Given the description of an element on the screen output the (x, y) to click on. 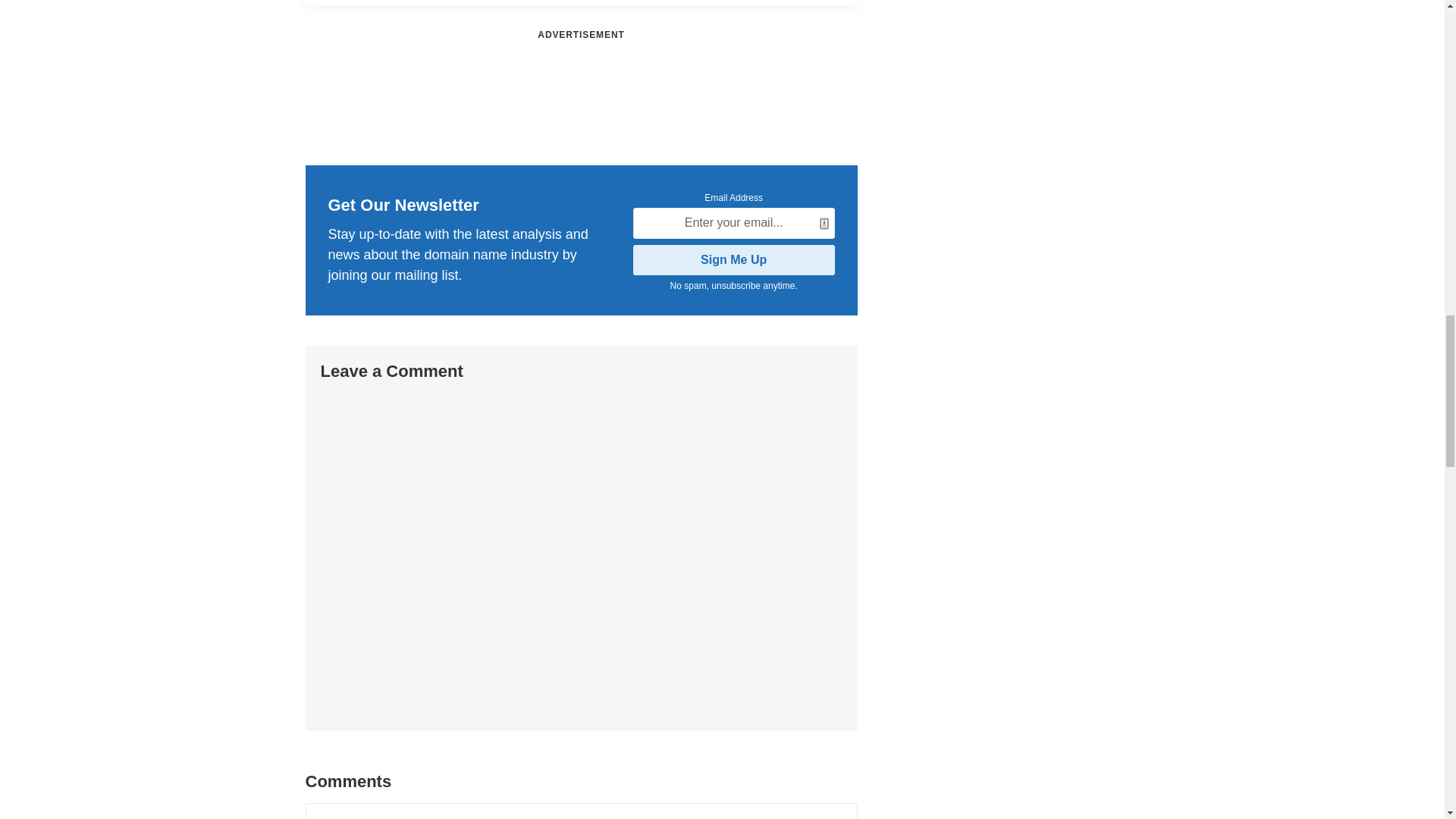
Sign Me Up (733, 259)
